Given the description of an element on the screen output the (x, y) to click on. 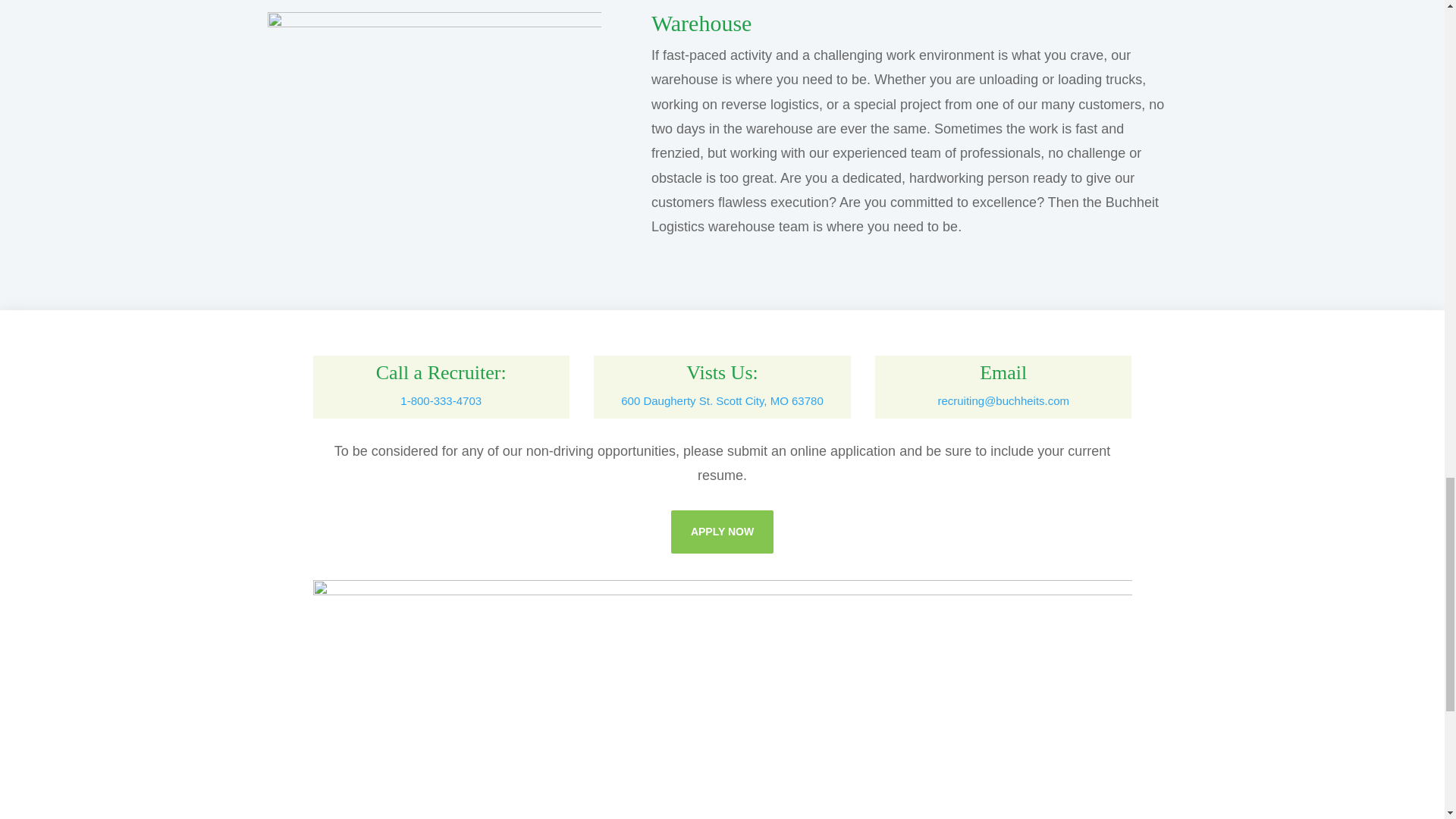
warehouse (432, 123)
600 Daugherty St. Scott City, MO 63780 (722, 400)
APPLY NOW (722, 531)
1-800-333-4703 (440, 400)
